Given the description of an element on the screen output the (x, y) to click on. 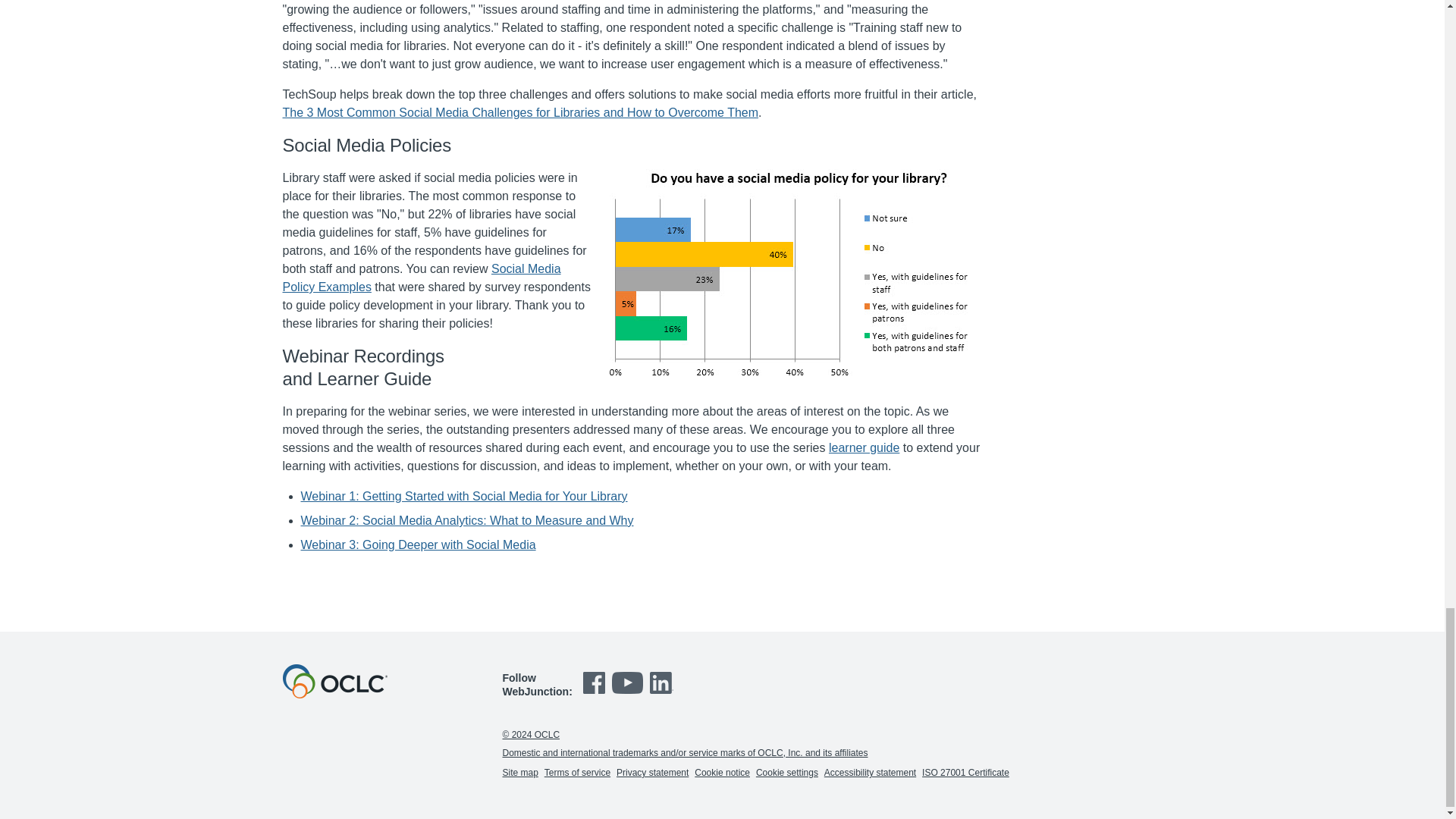
Visit oclc.org (334, 694)
Site map (519, 772)
learner guide (863, 447)
Watch WebJunction videos on YouTube (628, 693)
Webinar 3: Going Deeper with Social Media (417, 544)
Social Media Policy Examples (421, 277)
Webinar 2: Social Media Analytics: What to Measure and Why (466, 520)
Like WebJunction on Facebook (595, 693)
